Given the description of an element on the screen output the (x, y) to click on. 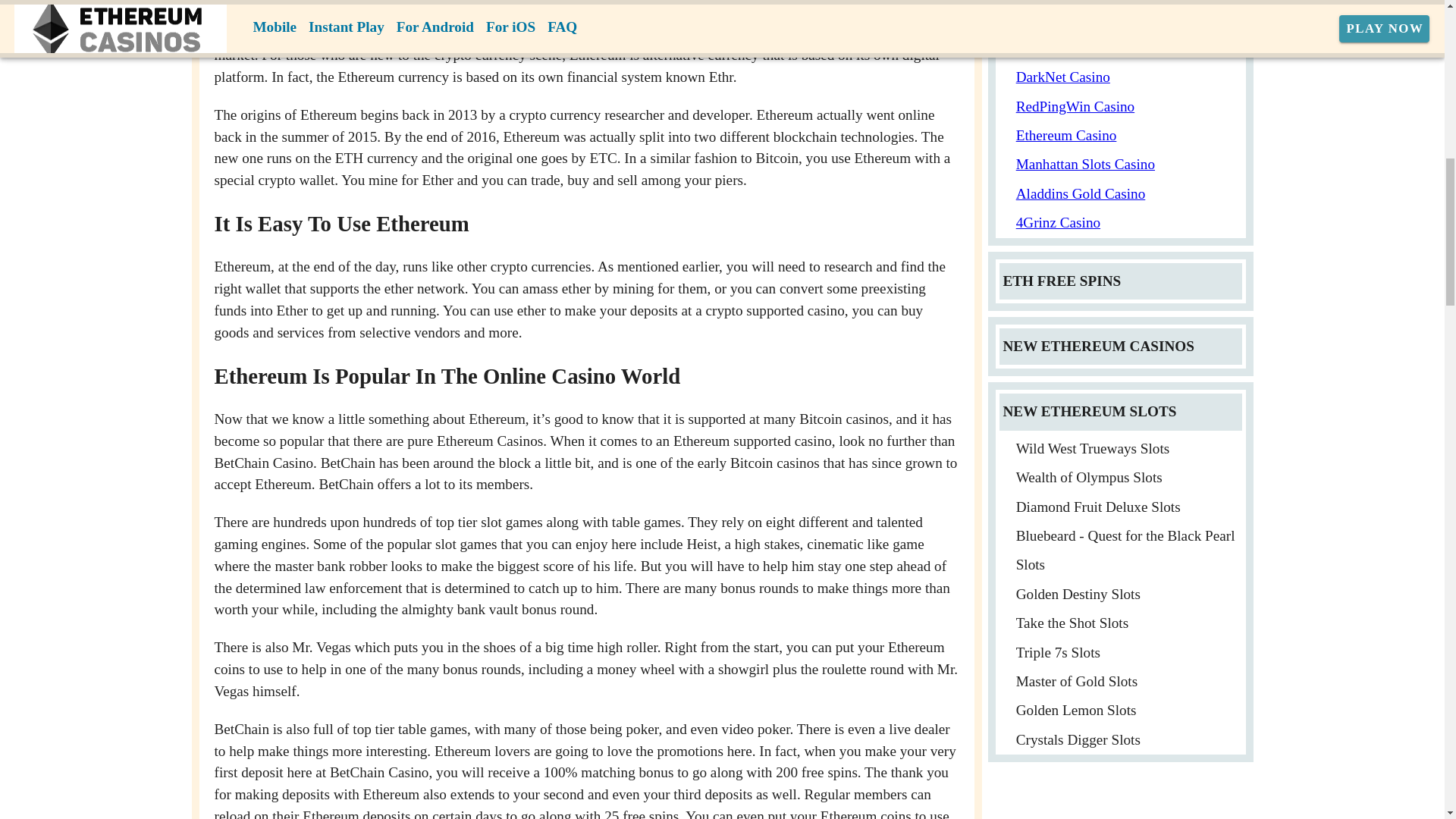
Aladdins Gold Casino (1080, 193)
LeonBets Casino (1066, 19)
RedPingWin Casino (1075, 106)
Ethereum Casino (1066, 135)
Grand Vegas Casino (1075, 48)
DarkNet Casino (1062, 76)
Manhattan Slots Casino (1085, 163)
4Grinz Casino (1058, 222)
